Given the description of an element on the screen output the (x, y) to click on. 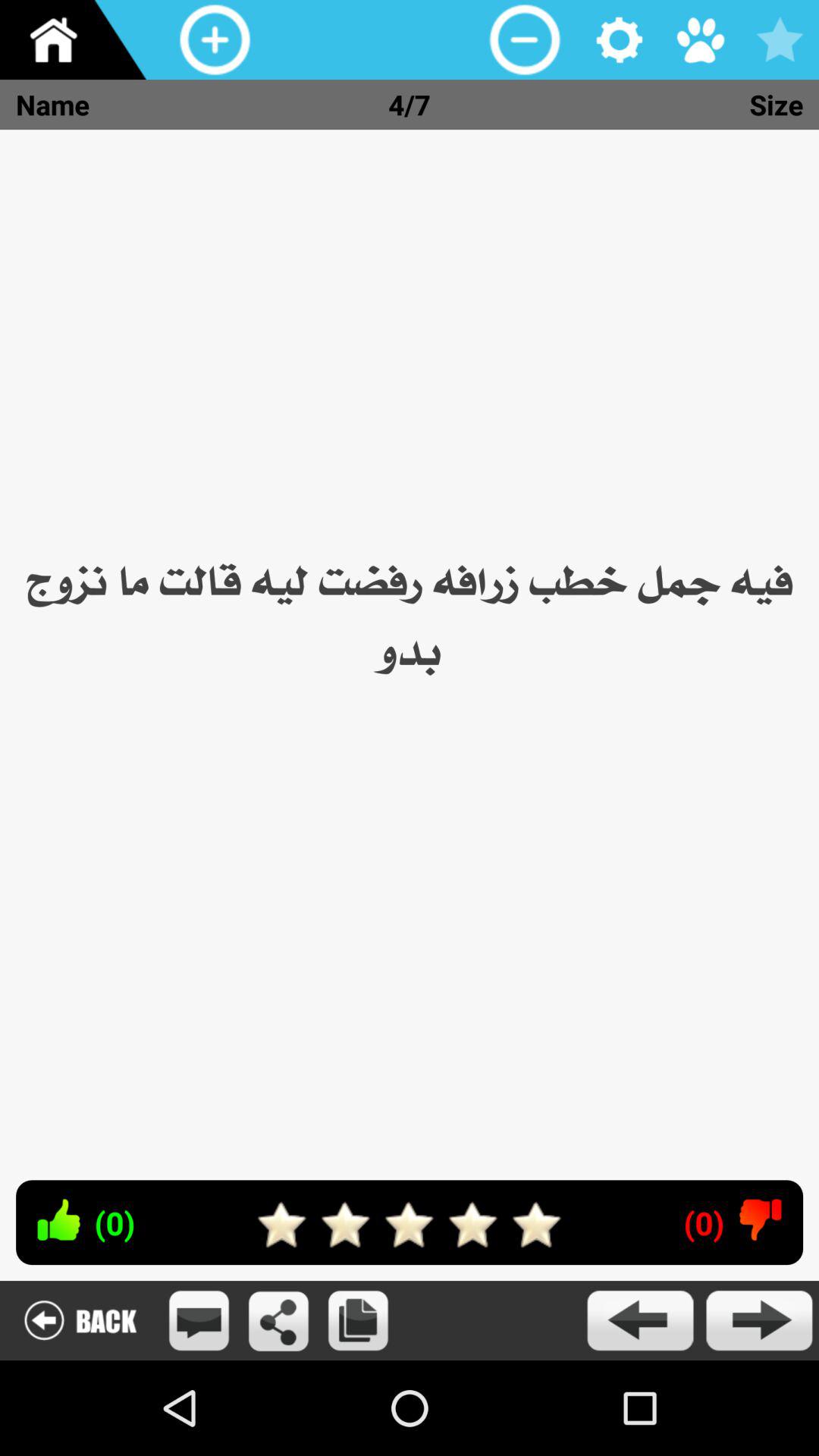
share this phrase (278, 1320)
